Given the description of an element on the screen output the (x, y) to click on. 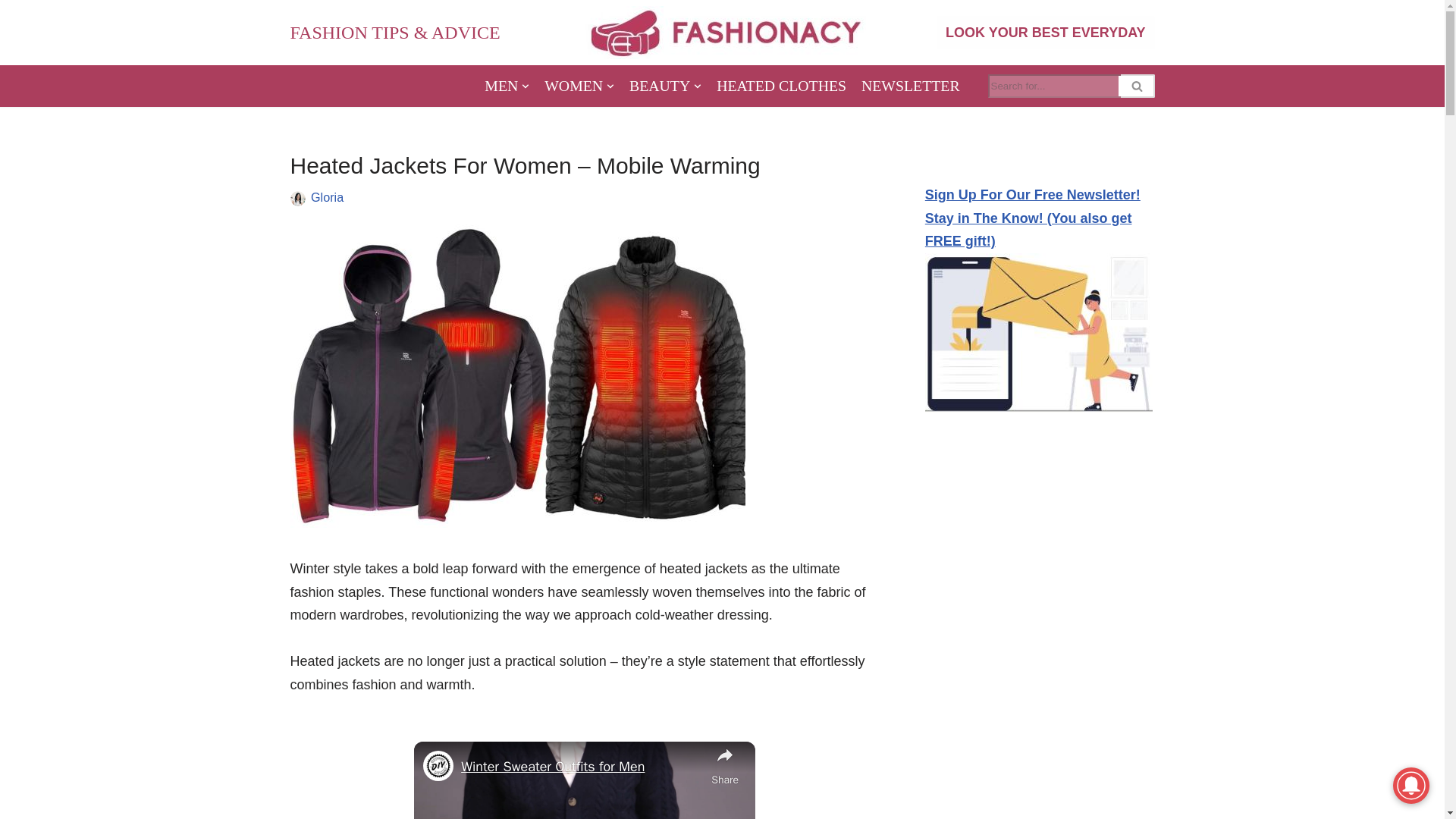
MEN (506, 86)
WOMEN (579, 86)
BEAUTY (664, 86)
Skip to content (11, 31)
Posts by Gloria (327, 196)
LOOK YOUR BEST EVERYDAY (1045, 32)
